Given the description of an element on the screen output the (x, y) to click on. 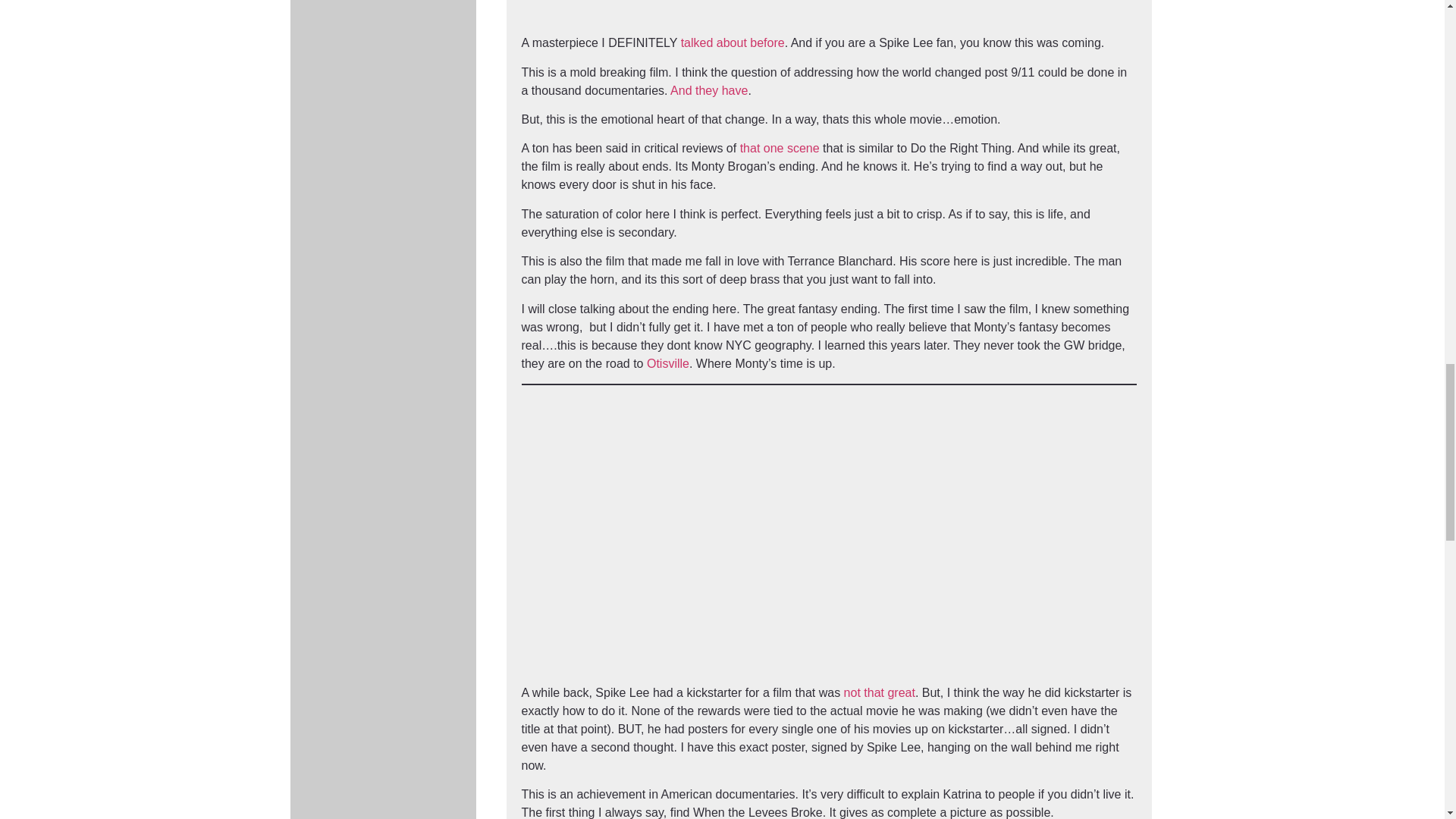
Otisville (667, 363)
not that great (879, 692)
that one scene (779, 147)
talked about before (732, 42)
And they have (708, 90)
